Given the description of an element on the screen output the (x, y) to click on. 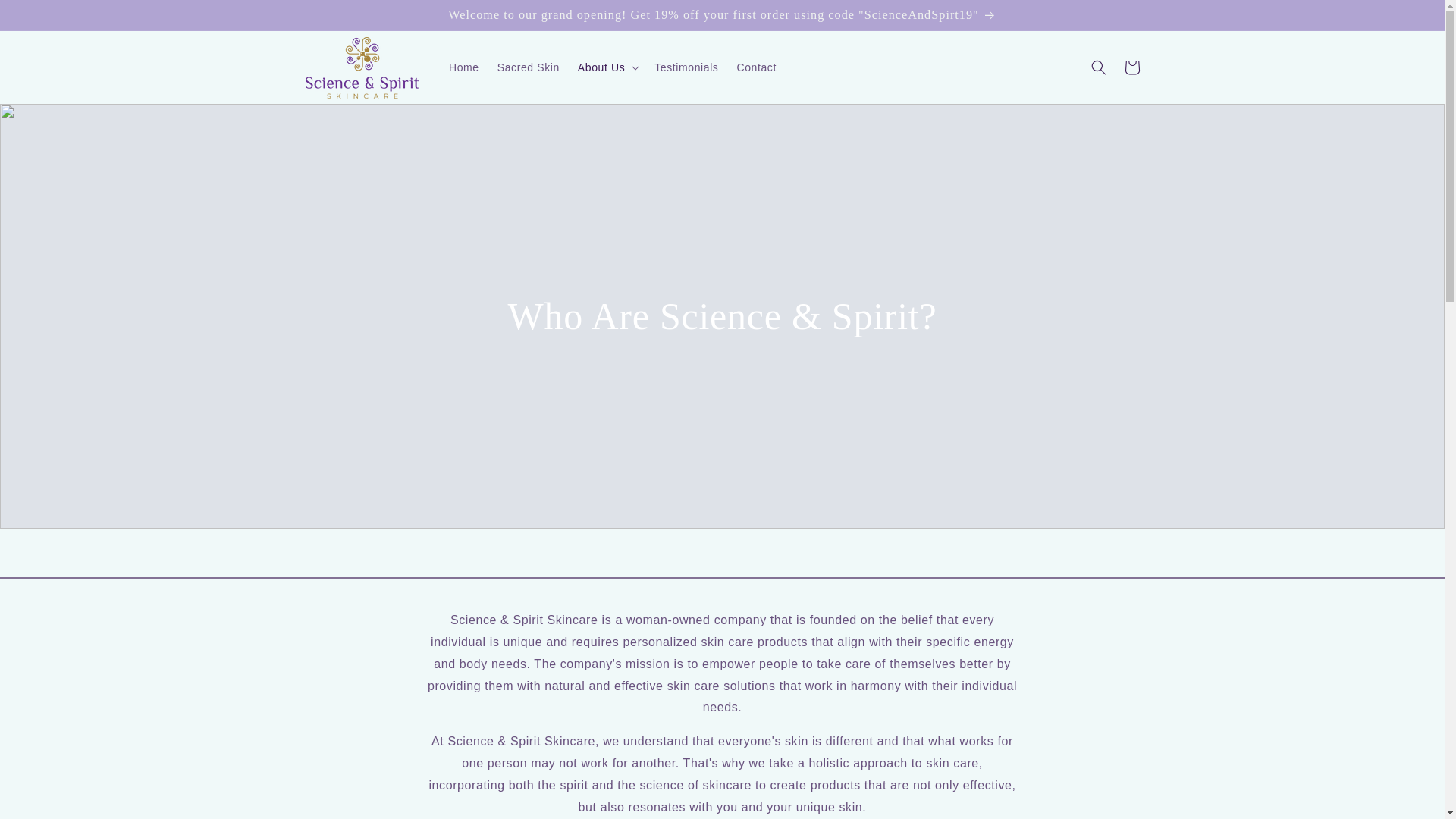
Contact (755, 67)
Sacred Skin (528, 67)
Home (463, 67)
Testimonials (685, 67)
Cart (1131, 67)
Skip to content (46, 18)
